Given the description of an element on the screen output the (x, y) to click on. 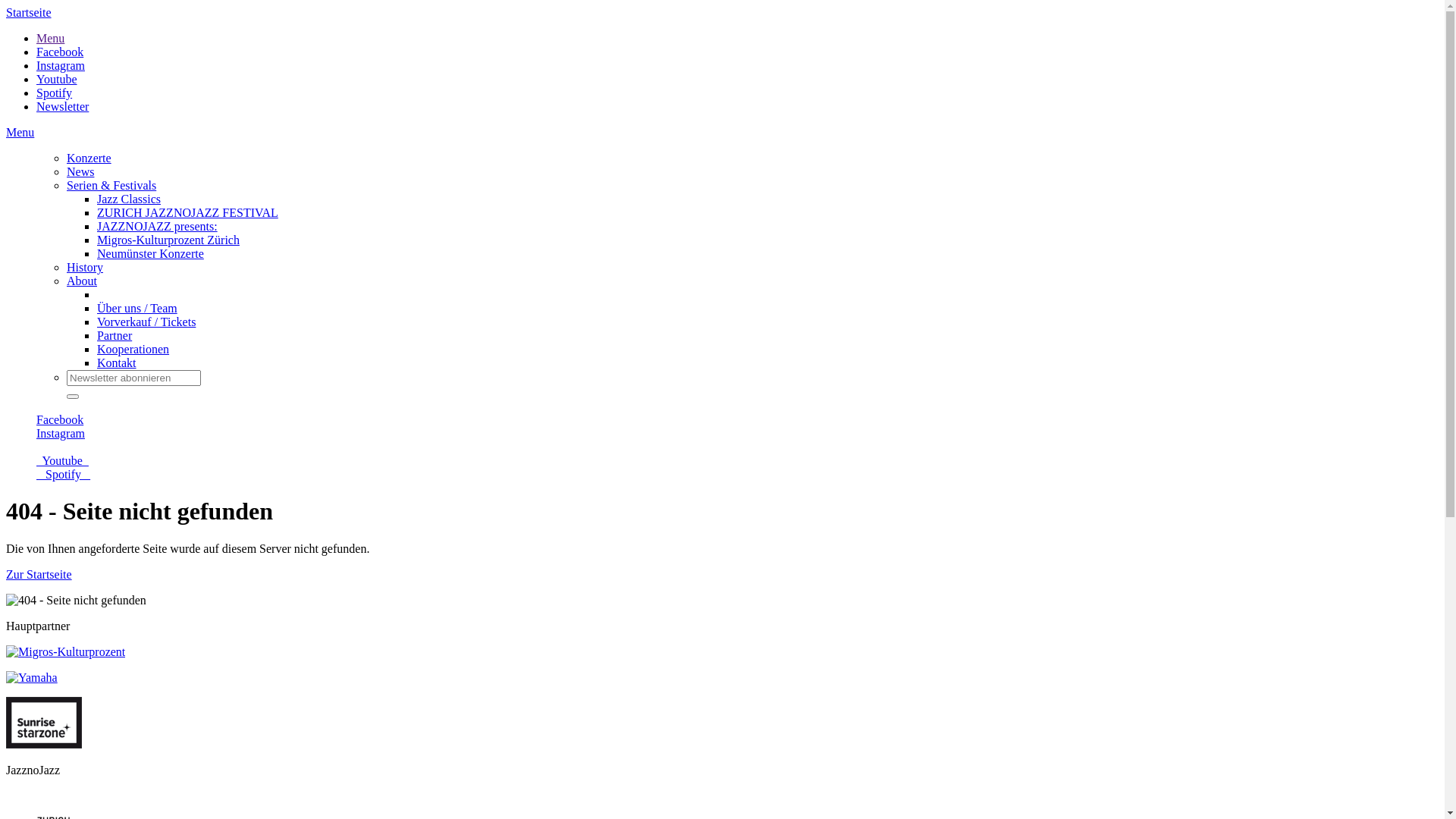
Menu Element type: text (20, 131)
Zur Startseite Element type: text (39, 573)
   Spotify    Element type: text (63, 480)
Newsletter Element type: text (62, 106)
Partner Element type: text (114, 335)
Spotify Element type: text (54, 92)
Kooperationen Element type: text (133, 348)
About Element type: text (81, 280)
Jazz Classics Element type: text (128, 198)
Kontakt Element type: text (116, 362)
Serien & Festivals Element type: text (111, 184)
ZURICH JAZZNOJAZZ FESTIVAL Element type: text (187, 212)
Vorverkauf / Tickets Element type: text (146, 321)
History Element type: text (84, 266)
Startseite Element type: text (28, 12)
Instagram Element type: text (60, 65)
Konzerte Element type: text (88, 157)
  Youtube   Element type: text (62, 467)
Facebook Element type: text (59, 51)
News Element type: text (80, 171)
Menu Element type: text (50, 37)
Instagram Element type: text (60, 439)
JAZZNOJAZZ presents: Element type: text (157, 225)
Facebook Element type: text (59, 426)
Youtube Element type: text (56, 78)
